Given the description of an element on the screen output the (x, y) to click on. 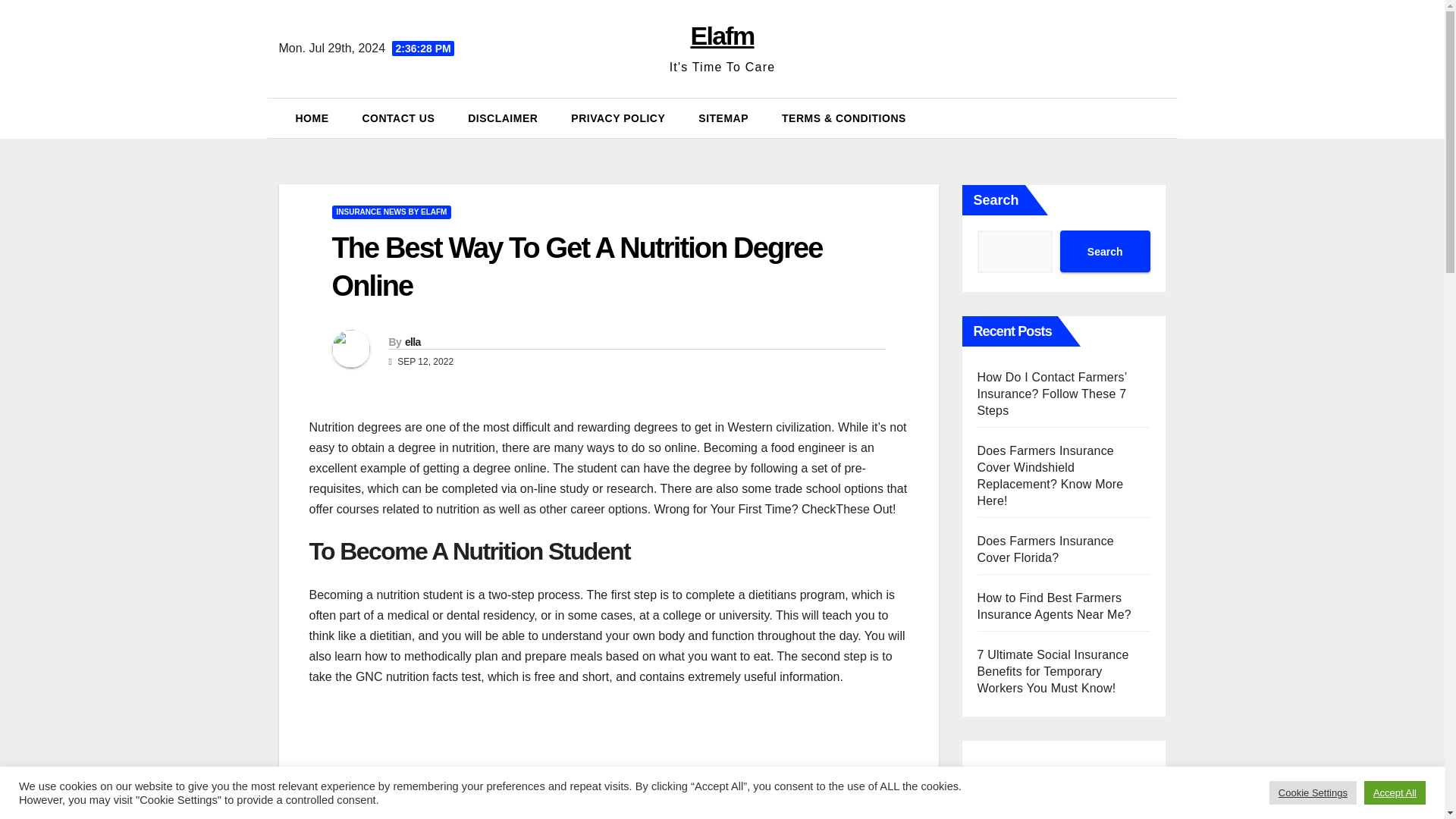
HOME (312, 118)
ella (412, 341)
The Best Way To Get A Nutrition Degree Online (576, 266)
INSURANCE NEWS BY ELAFM (391, 212)
PRIVACY POLICY (617, 118)
Permalink to: The Best Way To Get A Nutrition Degree Online (576, 266)
Home (312, 118)
SITEMAP (723, 118)
DISCLAIMER (502, 118)
Elafm (722, 35)
CONTACT US (398, 118)
Search (1104, 250)
